Given the description of an element on the screen output the (x, y) to click on. 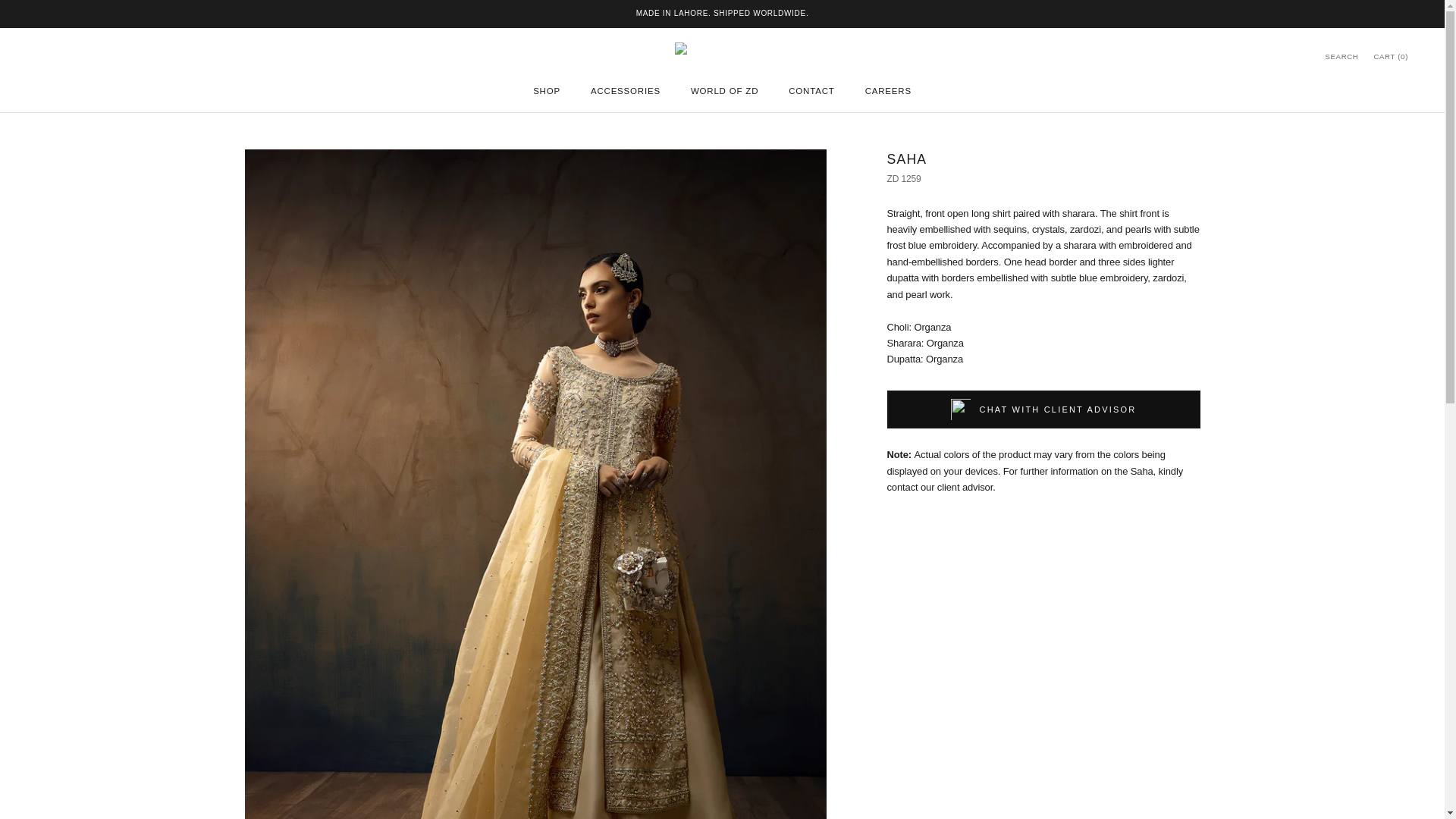
Zuria Dor (1341, 55)
